Given the description of an element on the screen output the (x, y) to click on. 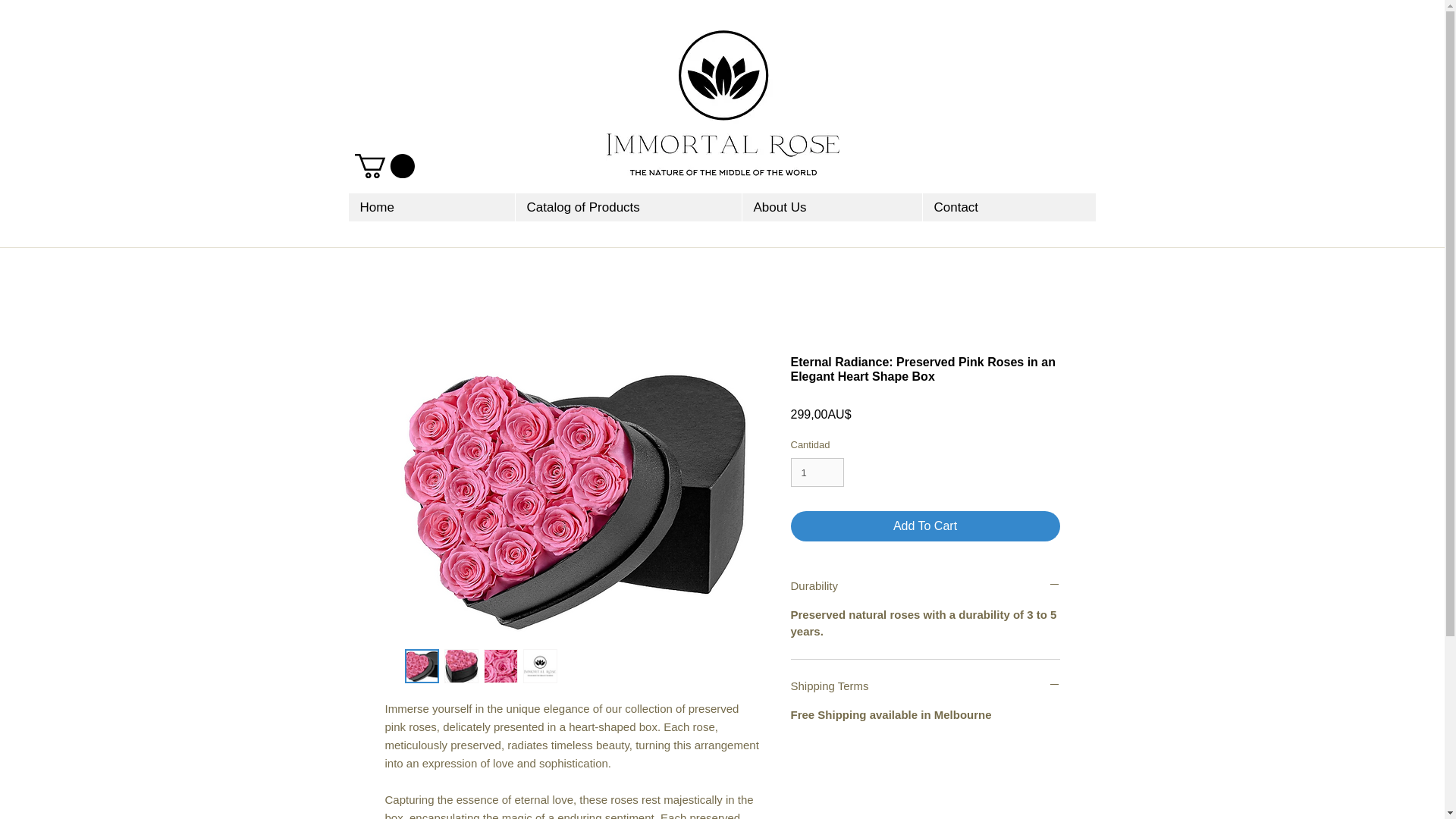
Add To Cart (924, 526)
Shipping Terms (924, 685)
1 (817, 471)
Contact (1008, 207)
Home (432, 207)
Catalog of Products (627, 207)
About Us (831, 207)
Durability (924, 585)
